Given the description of an element on the screen output the (x, y) to click on. 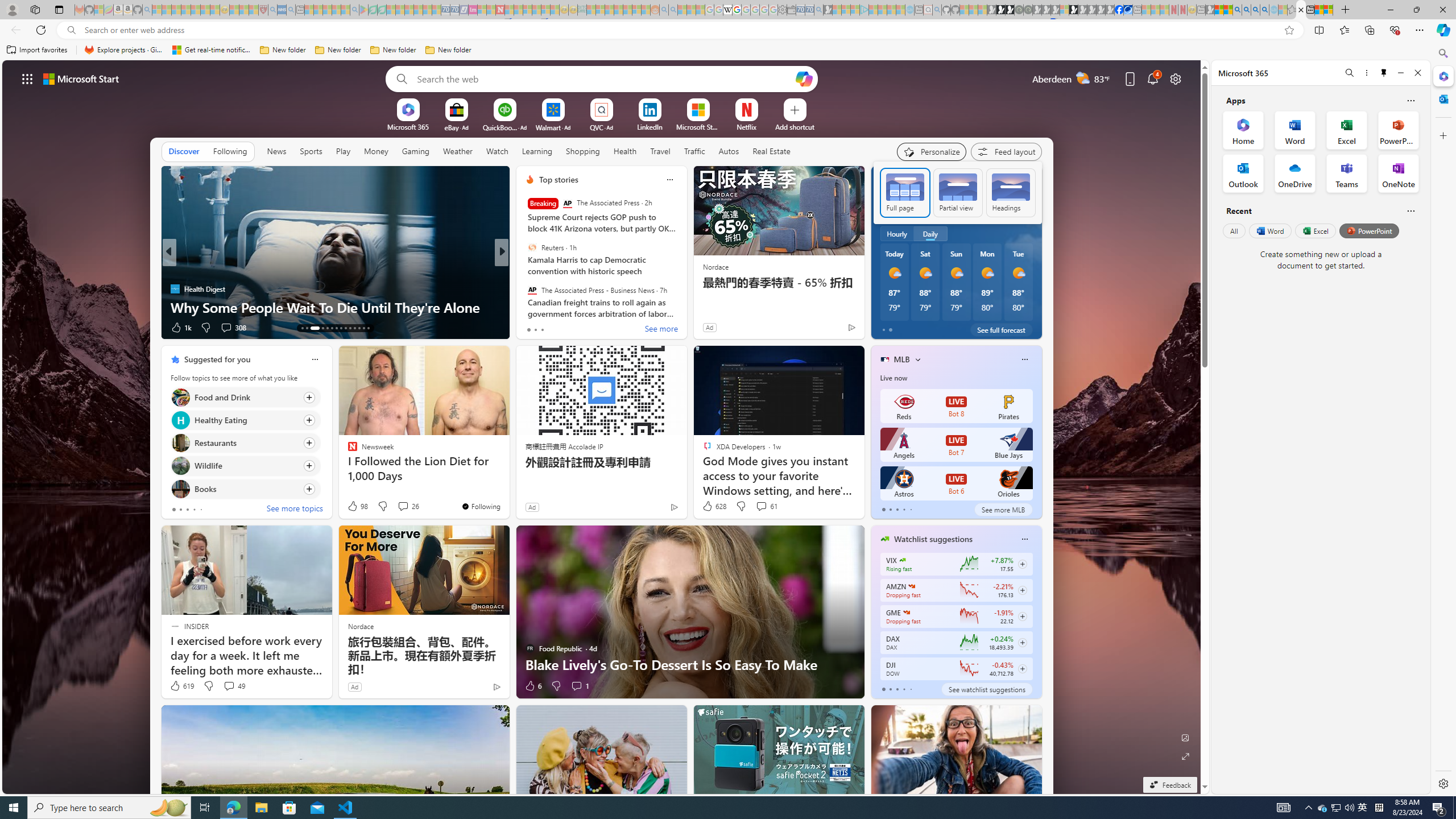
Pets - MSN - Sleeping (336, 9)
Traffic (694, 151)
MSN - Sleeping (1210, 9)
AutomationID: tab-16 (322, 328)
Top stories (558, 179)
Recipes - MSN - Sleeping (234, 9)
All (1233, 230)
Autos (729, 151)
AMAZON.COM, INC. (911, 586)
